Given the description of an element on the screen output the (x, y) to click on. 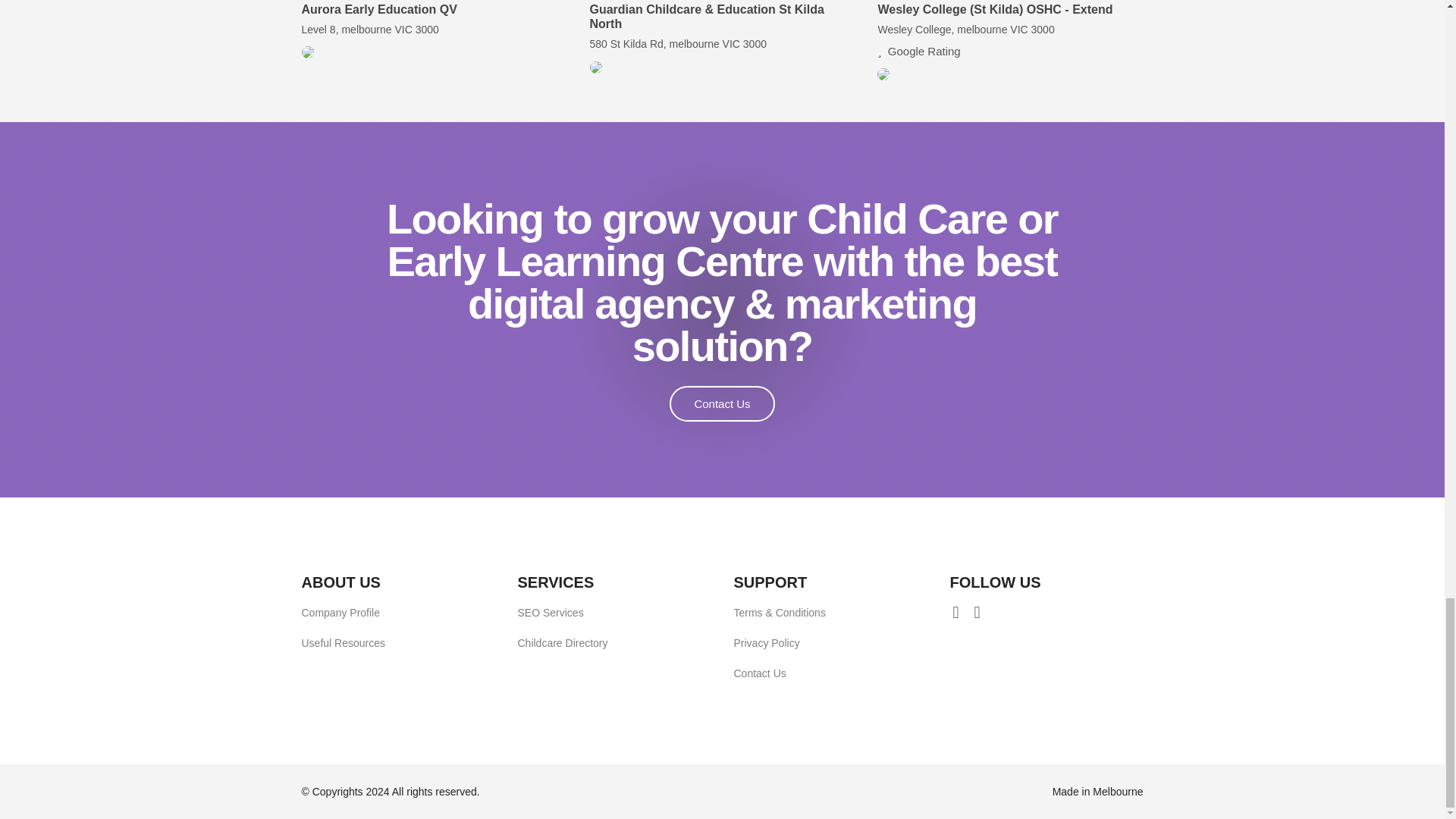
SEO Services (549, 612)
Childcare Directory (561, 643)
Company Profile (340, 612)
Aurora Early Education QV (379, 9)
Useful Resources (343, 643)
Contact Us (721, 403)
Privacy Policy (766, 643)
Contact Us (759, 673)
